Given the description of an element on the screen output the (x, y) to click on. 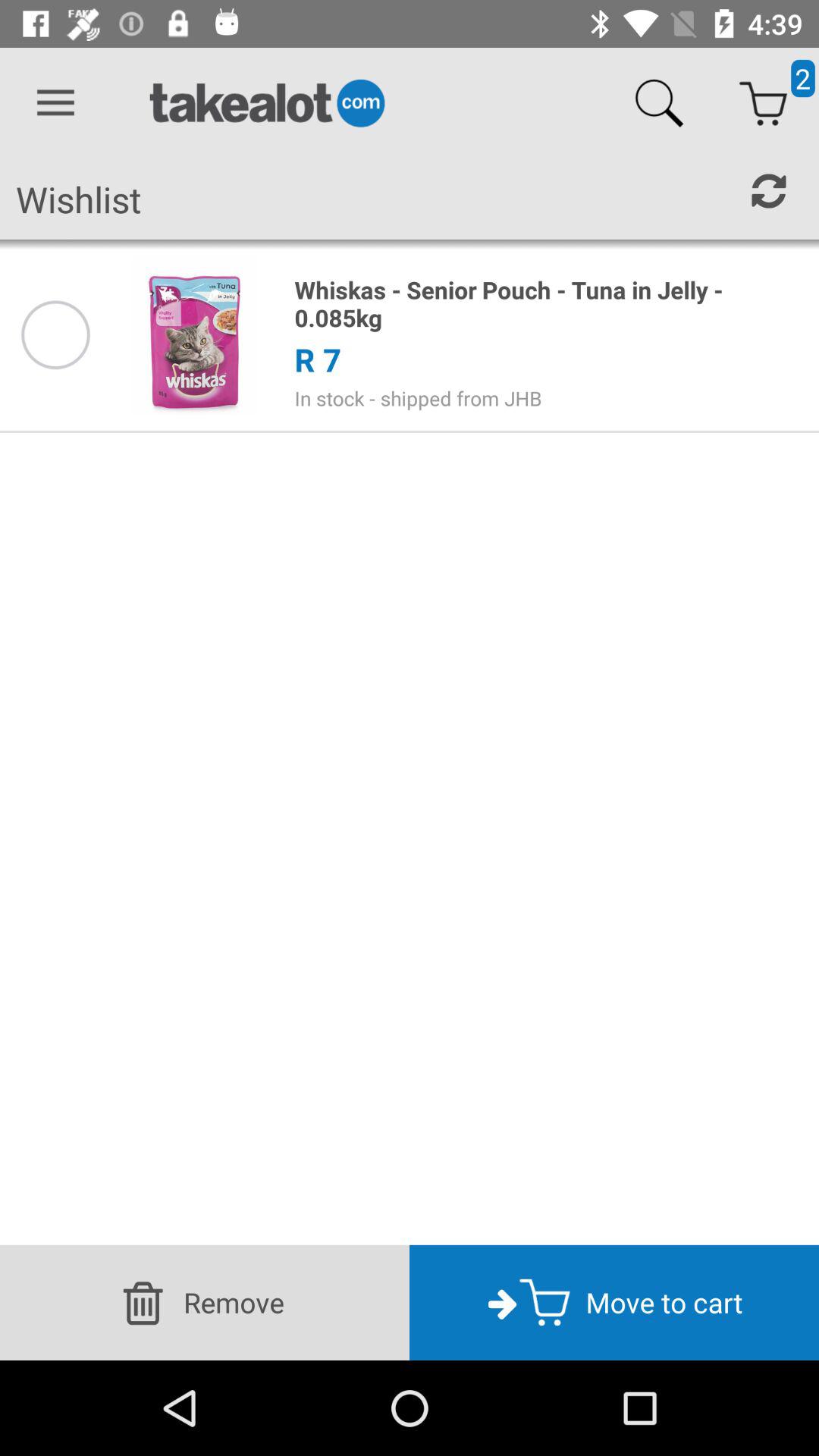
its a bullet box which you click to select some item (55, 334)
